Given the description of an element on the screen output the (x, y) to click on. 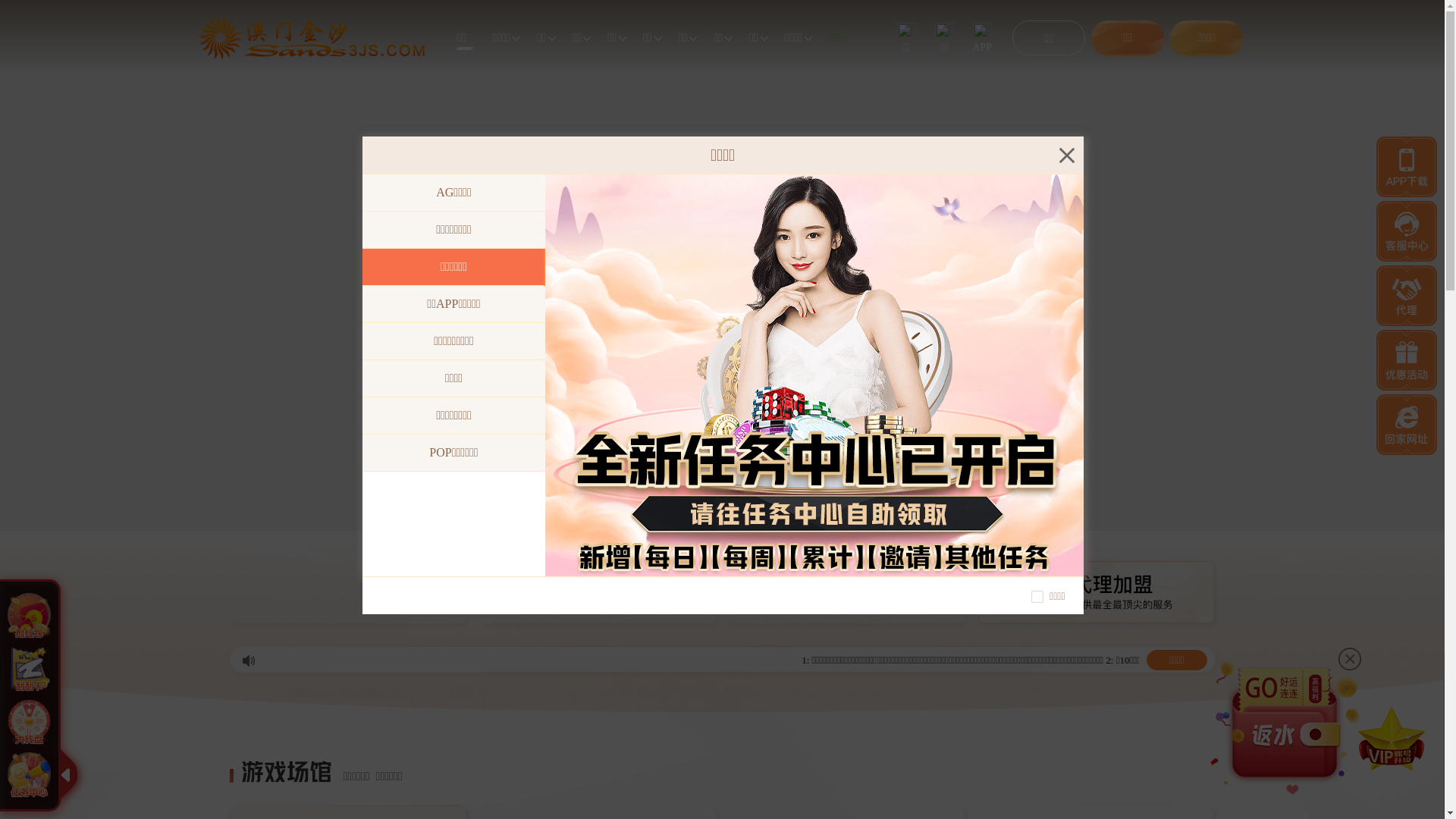
3 Element type: text (703, 520)
7 Element type: text (770, 520)
6 Element type: text (755, 520)
5 Element type: text (737, 520)
1 Element type: text (673, 520)
APP Element type: text (981, 37)
4 Element type: text (718, 520)
2 Element type: text (688, 520)
